Given the description of an element on the screen output the (x, y) to click on. 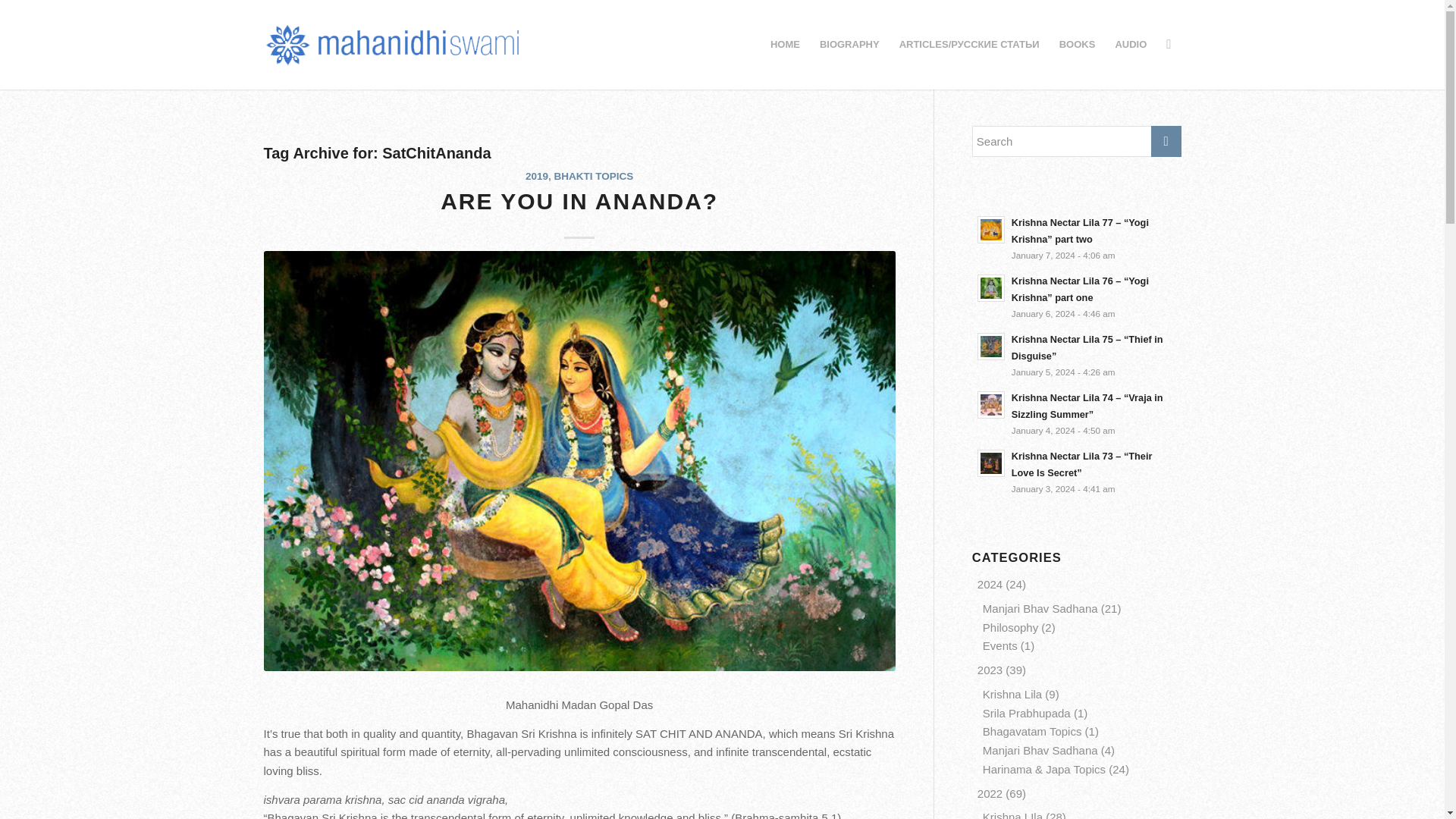
BHAKTI TOPICS (593, 175)
mahanidhi-swami-radhakund (392, 44)
Manjari Bhav Sadhana (1039, 608)
Bhagavatam Topics (1031, 730)
2022 (989, 793)
Manjari Bhav Sadhana (1039, 749)
Philosophy (1010, 626)
Events (999, 645)
ARE YOU IN ANANDA? (579, 201)
Krishna Lila (1012, 694)
2023 (989, 669)
2019 (536, 175)
Krishna LIla (1012, 814)
2024 (989, 584)
Permanent Link: Are You in Ananda? (579, 201)
